Given the description of an element on the screen output the (x, y) to click on. 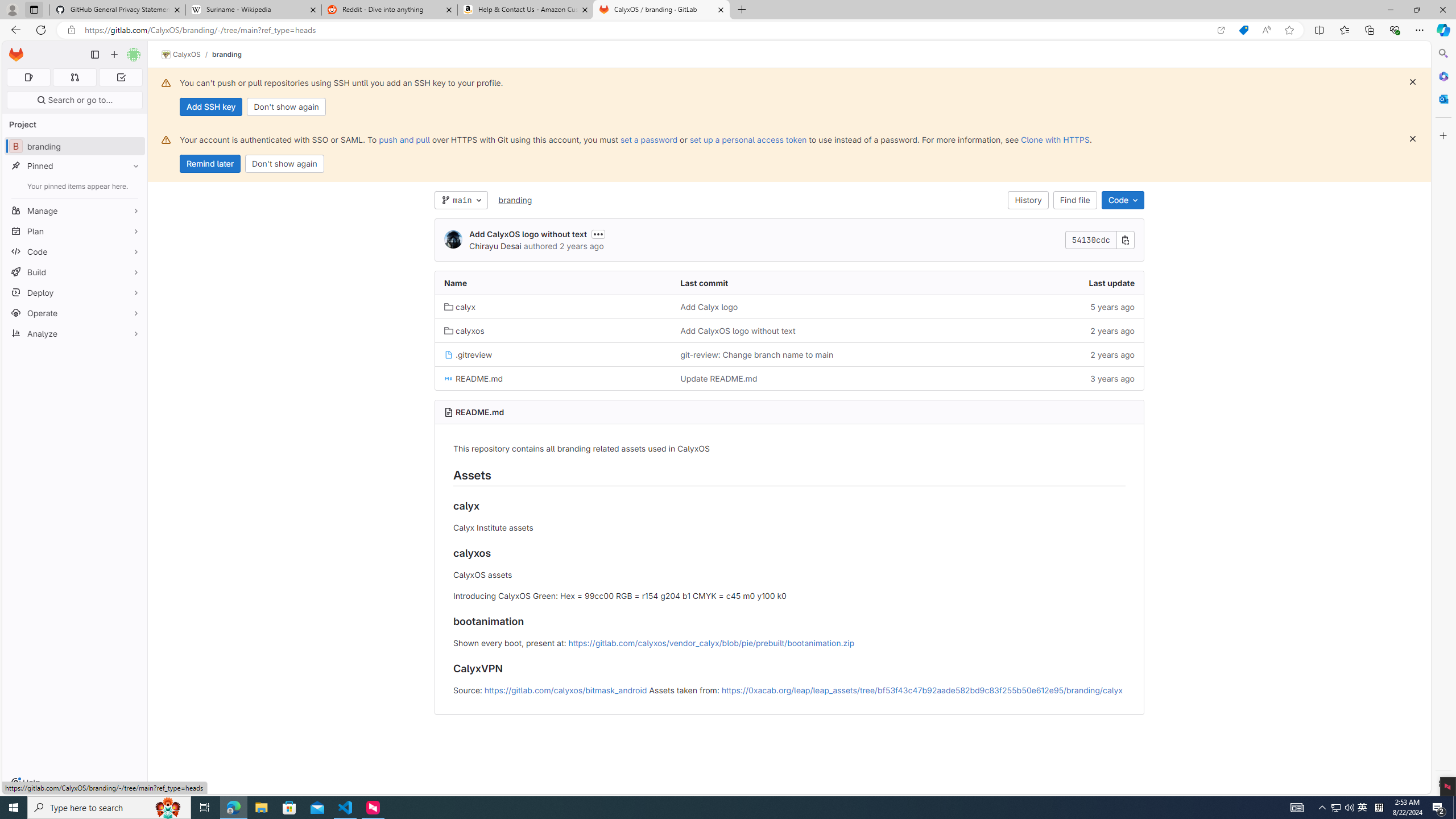
Remind later (210, 163)
branding (514, 199)
Code (1122, 199)
Name (553, 282)
Add CalyxOS logo without text (736, 330)
Plan (74, 230)
Copy commit SHA (1125, 239)
To-Do list 0 (120, 76)
